Given the description of an element on the screen output the (x, y) to click on. 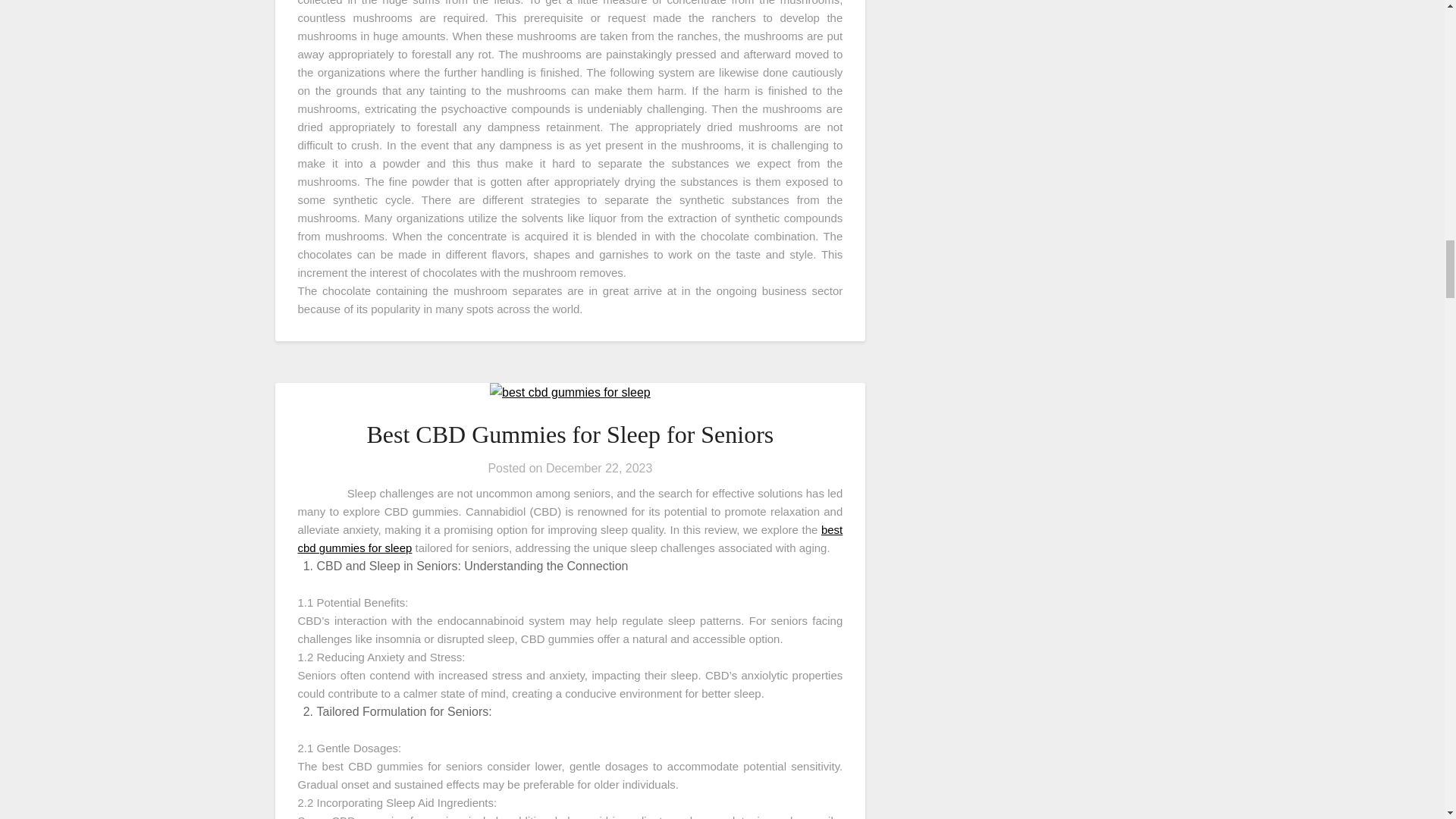
December 22, 2023 (599, 468)
best cbd gummies for sleep (570, 538)
Best CBD Gummies for Sleep for Seniors (569, 433)
